Given the description of an element on the screen output the (x, y) to click on. 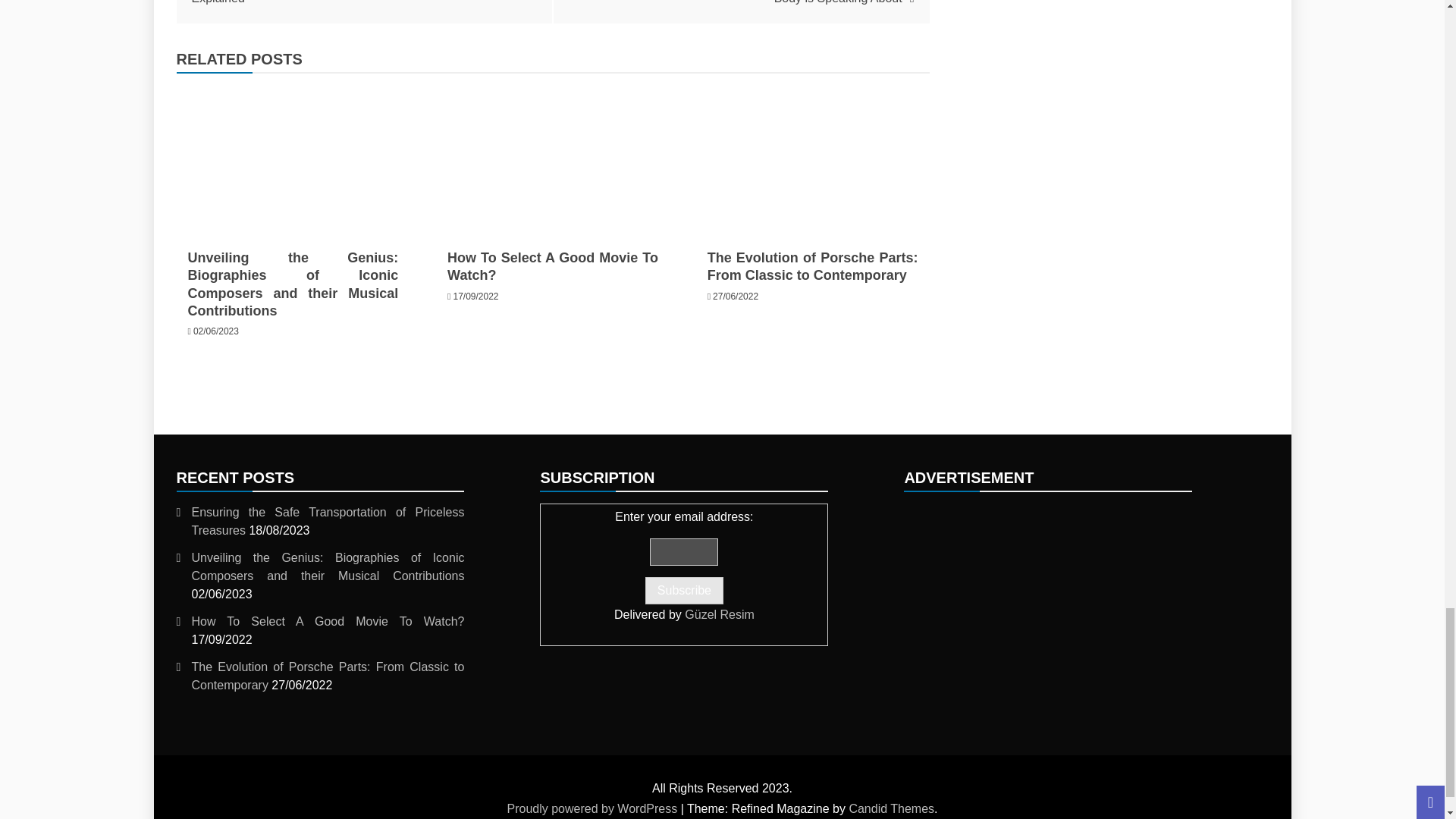
5 Simple Details About Resim Entertainment Gallery Explained (363, 2)
How To Select A Good Movie To Watch? (552, 157)
Subscribe (684, 590)
How To Select A Good Movie To Watch? (552, 266)
The Evolution of Porsche Parts: From Classic to Contemporary (812, 157)
Coco Game Play (1047, 597)
